Given the description of an element on the screen output the (x, y) to click on. 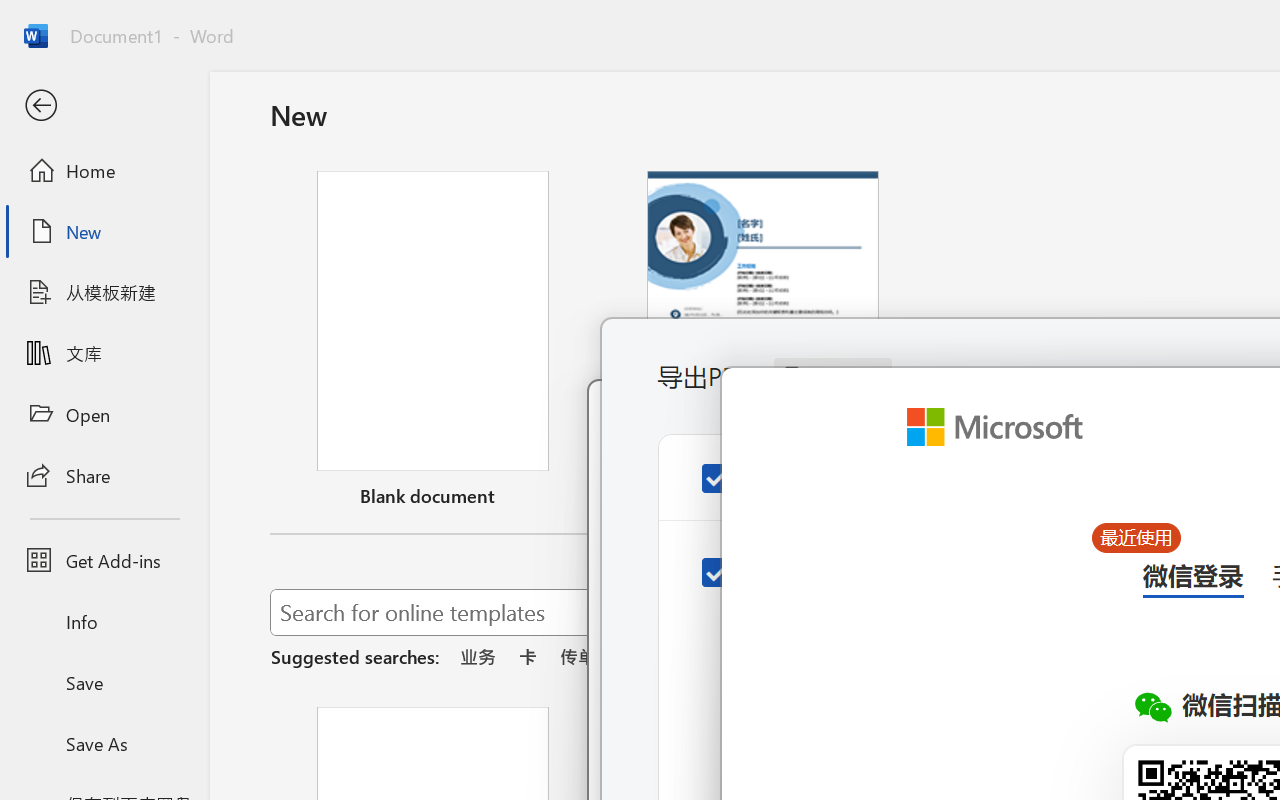
Get Add-ins (104, 560)
Back (104, 106)
Save As (104, 743)
Blank document (433, 343)
Info (104, 621)
